Given the description of an element on the screen output the (x, y) to click on. 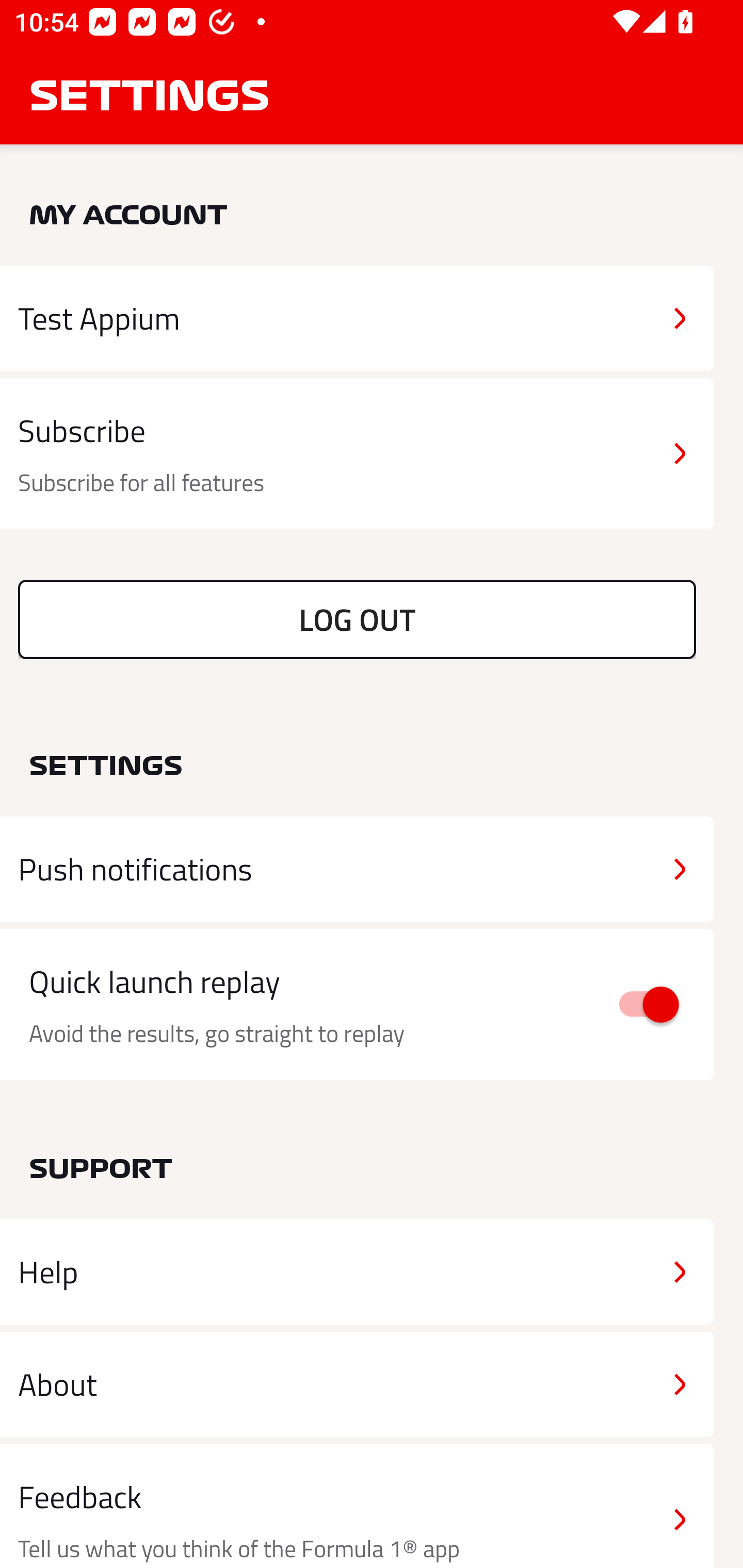
Test Appium (357, 317)
Subscribe Subscribe for all features (357, 453)
LOG OUT (356, 619)
Push notifications (357, 868)
Help (357, 1271)
About (357, 1383)
